Given the description of an element on the screen output the (x, y) to click on. 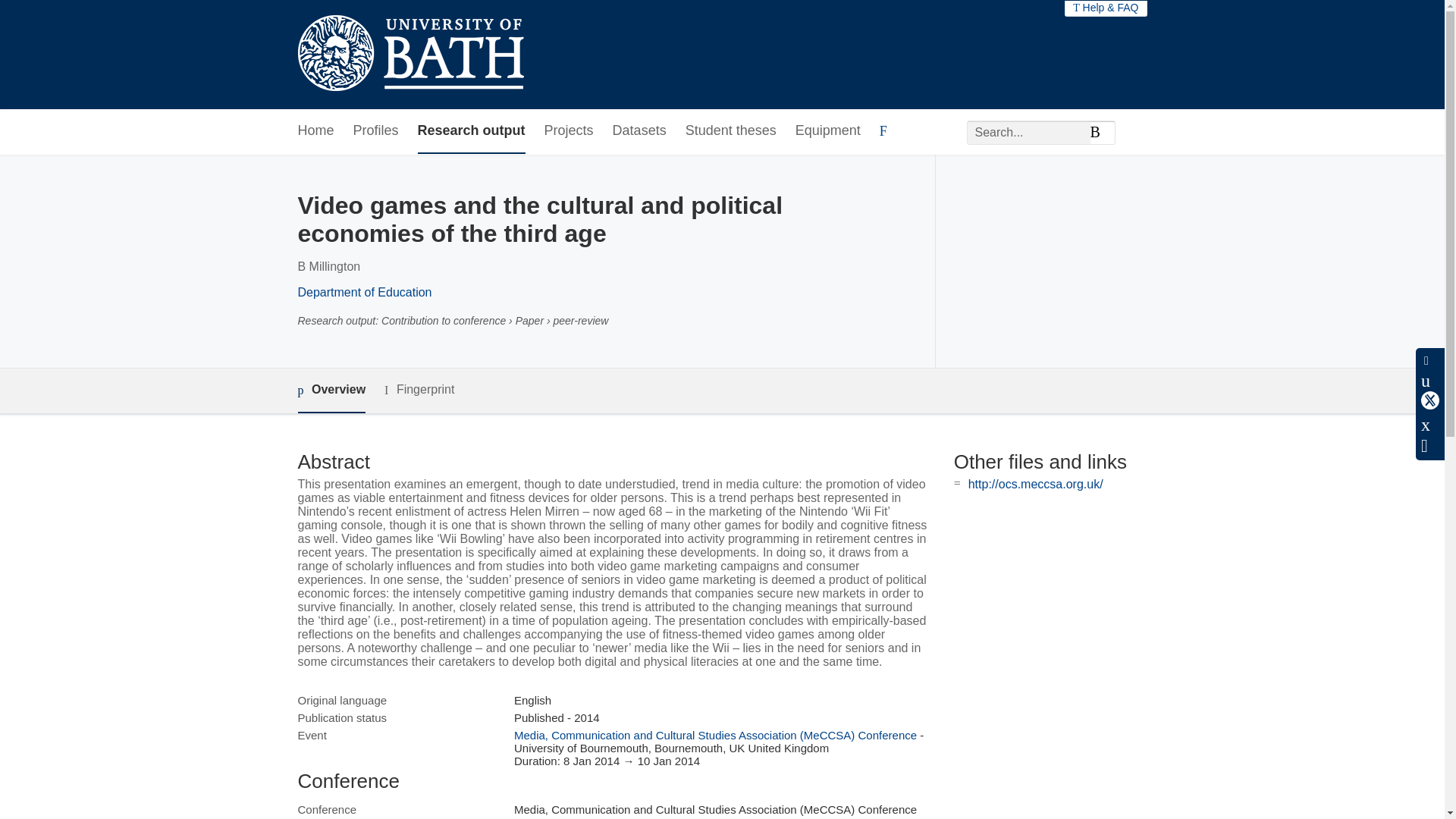
Research output (471, 130)
Overview (331, 390)
the University of Bath's research portal Home (409, 54)
Equipment (827, 130)
Student theses (730, 130)
Department of Education (363, 291)
Projects (569, 130)
Datasets (639, 130)
Fingerprint (419, 389)
